Given the description of an element on the screen output the (x, y) to click on. 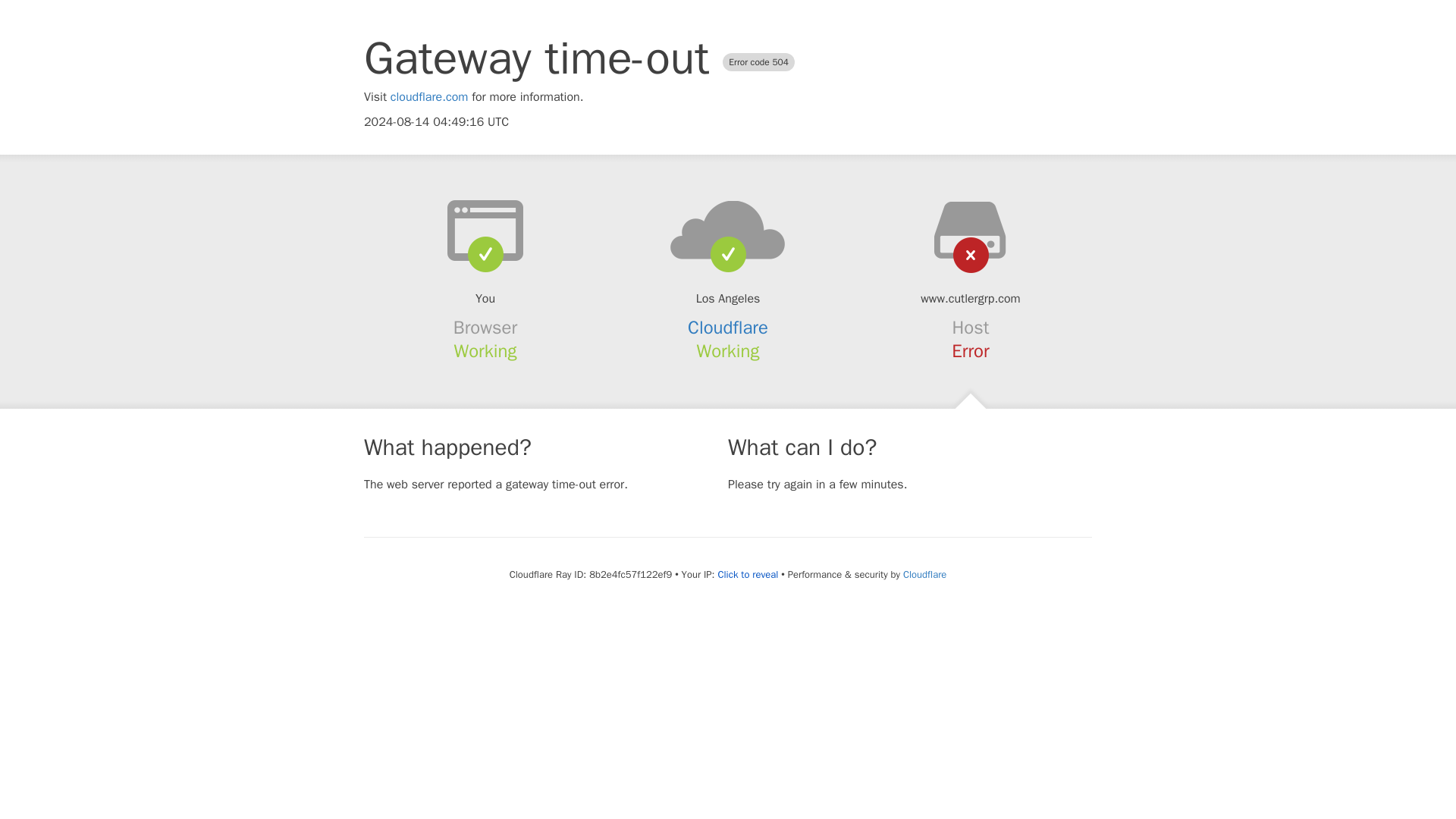
cloudflare.com (429, 96)
Cloudflare (924, 574)
Cloudflare (727, 327)
Click to reveal (747, 574)
